Given the description of an element on the screen output the (x, y) to click on. 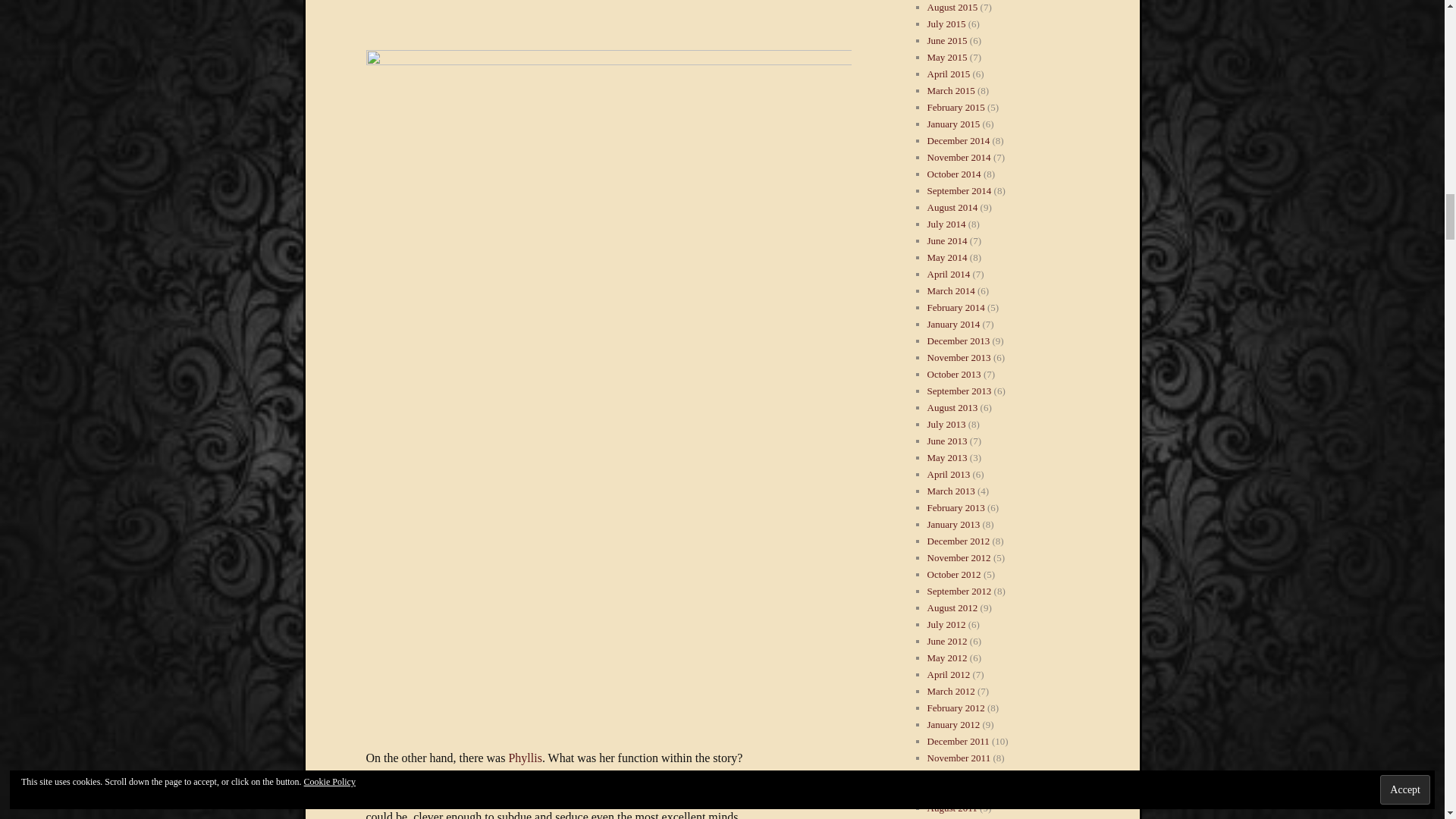
Phyllis (524, 757)
